Given the description of an element on the screen output the (x, y) to click on. 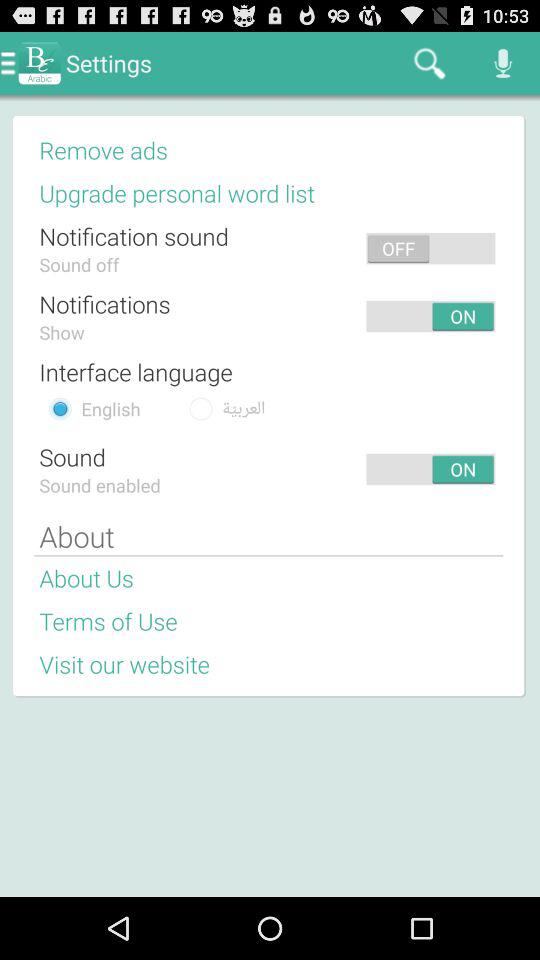
turn off the item below notifications app (61, 331)
